Given the description of an element on the screen output the (x, y) to click on. 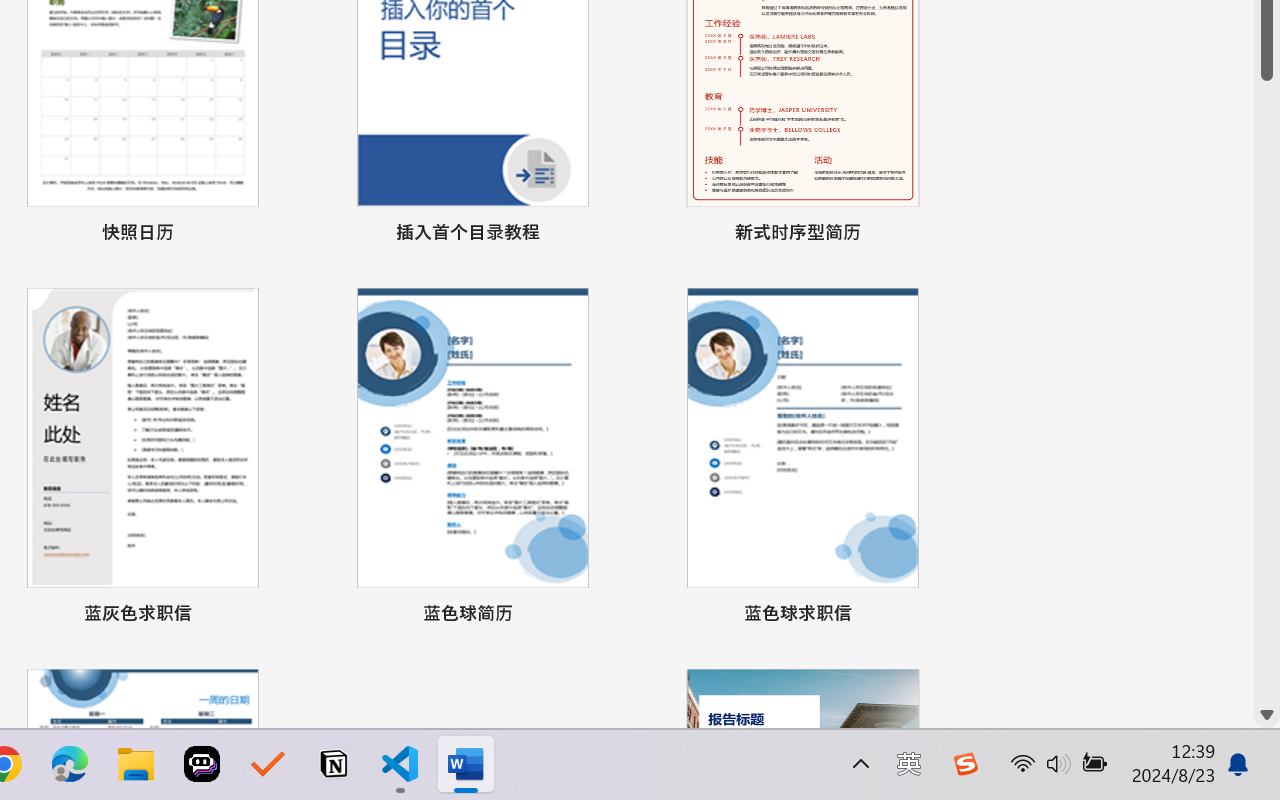
Line down (1267, 715)
Page down (1267, 391)
Pin to list (934, 616)
